Given the description of an element on the screen output the (x, y) to click on. 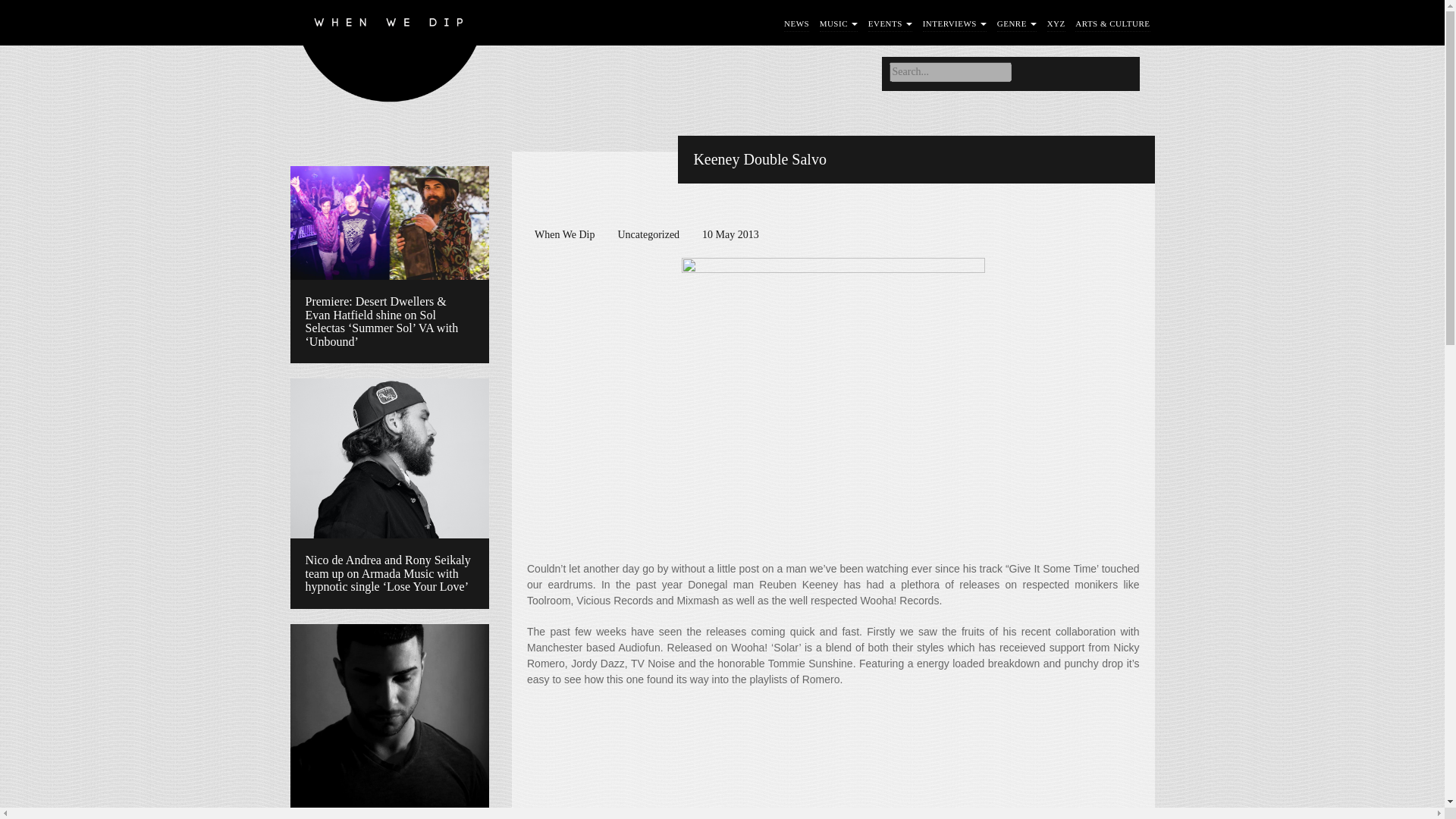
GENRE (1016, 23)
XYZ (1055, 23)
Events (889, 23)
EVENTS (889, 23)
MUSIC (839, 23)
Interviews (955, 23)
When We Dip (389, 54)
INTERVIEWS (955, 23)
When We Dip (389, 54)
NEWS (796, 23)
Music (839, 23)
News (796, 23)
